Given the description of an element on the screen output the (x, y) to click on. 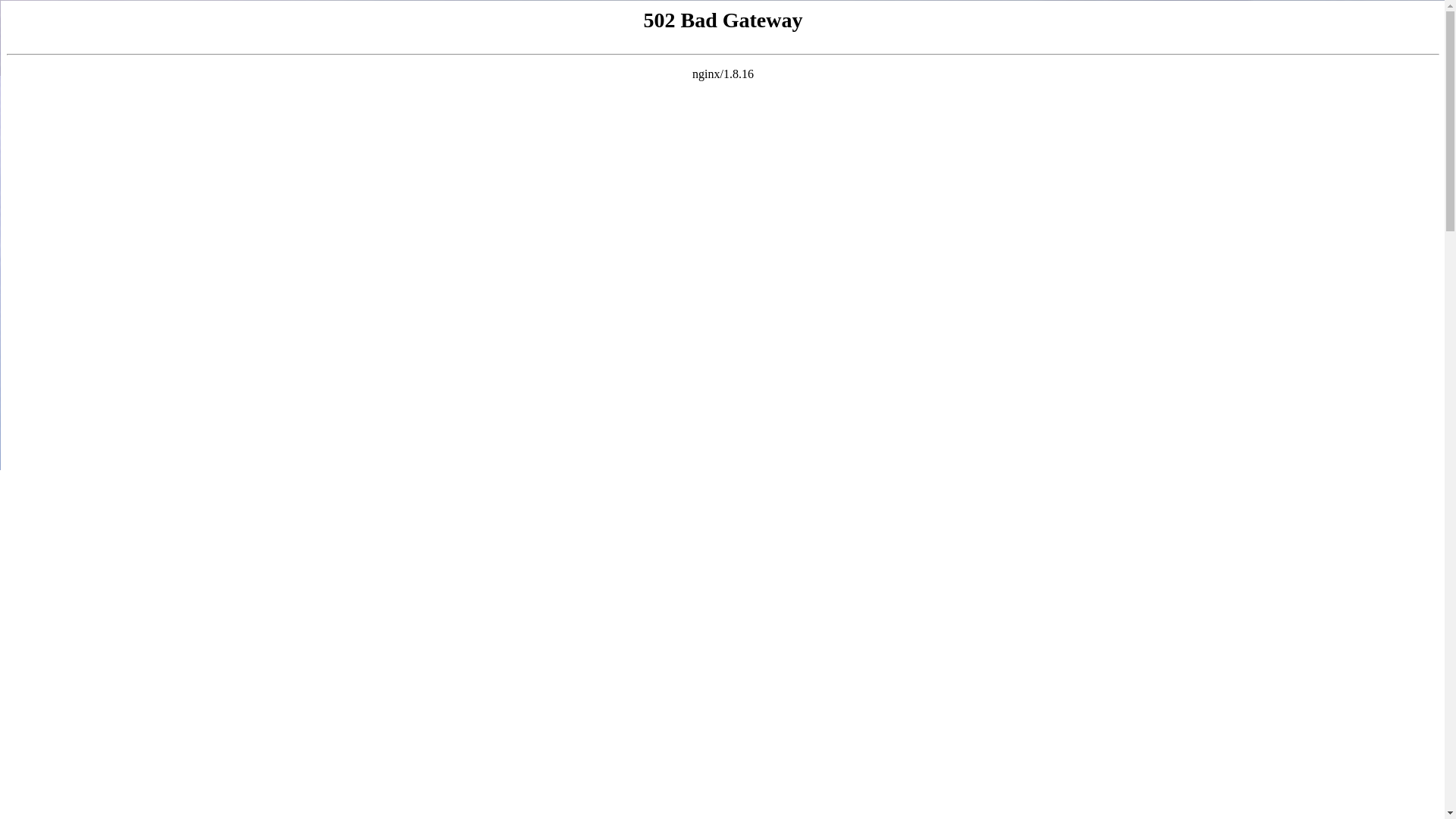
1 Element type: text (681, 454)
3 Element type: text (736, 454)
4 Element type: text (763, 454)
2 Element type: text (708, 454)
